Given the description of an element on the screen output the (x, y) to click on. 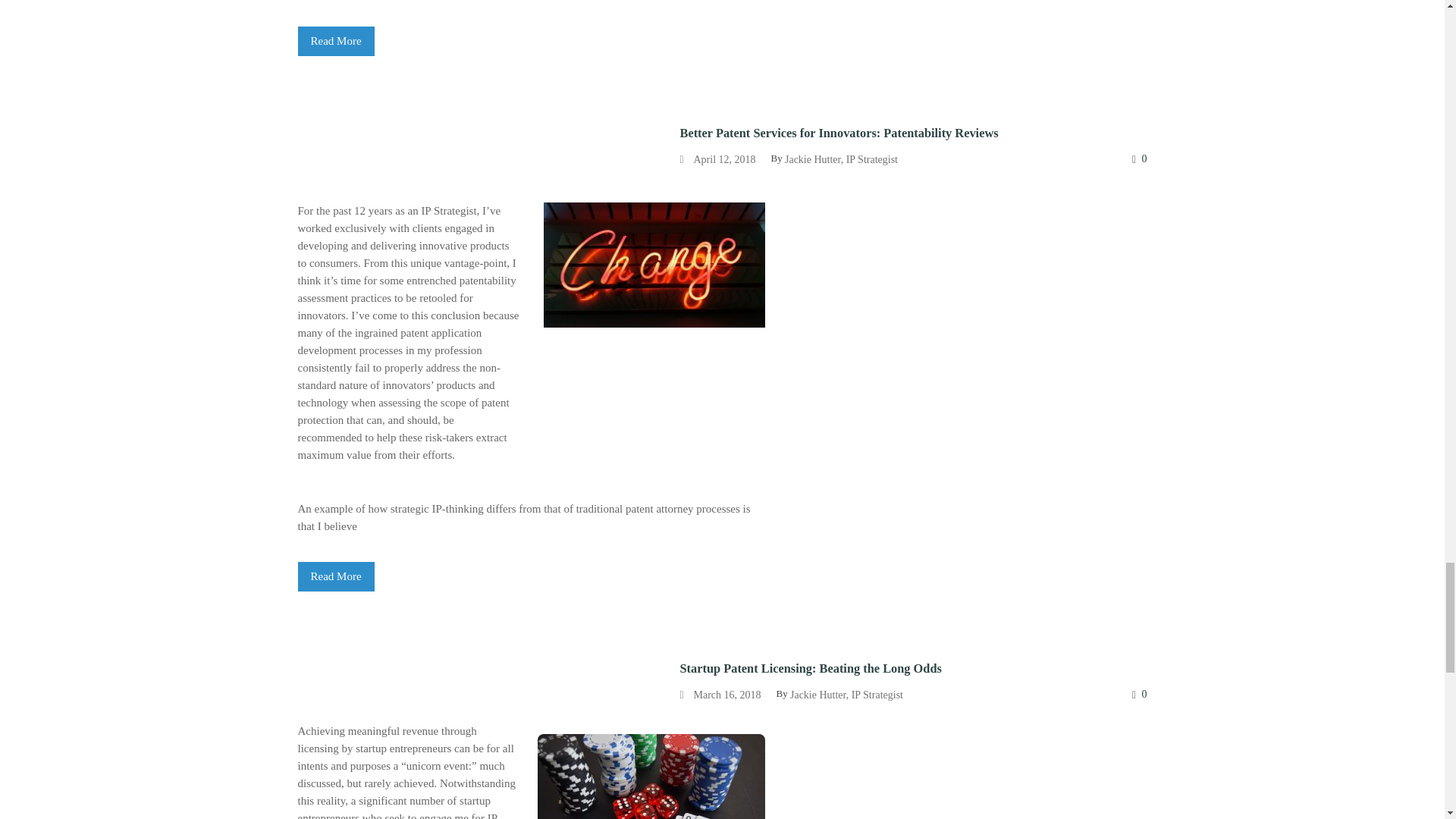
Better Patent Services for Innovators: Patentability Reviews (335, 576)
Patentability Reviews for Innovations (335, 41)
